Given the description of an element on the screen output the (x, y) to click on. 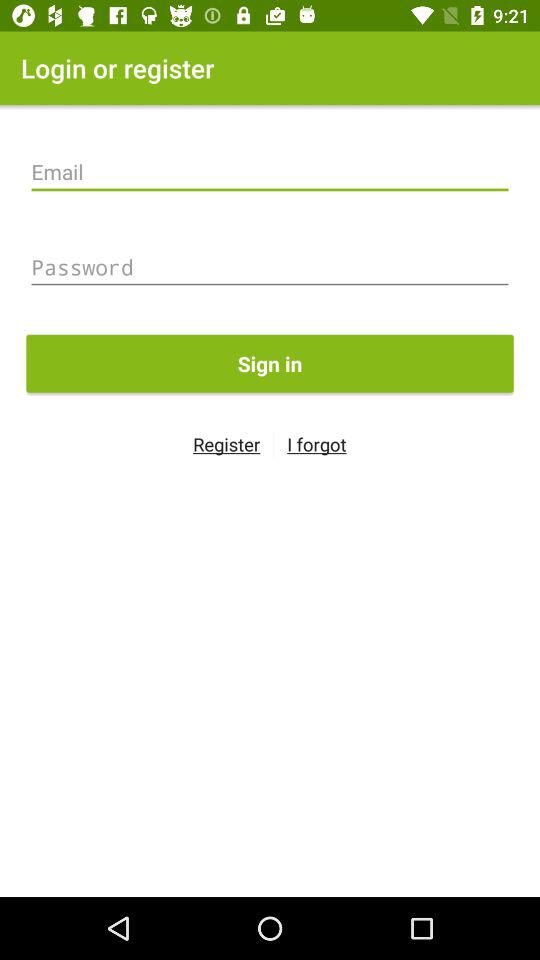
turn off the item below sign in item (316, 443)
